Given the description of an element on the screen output the (x, y) to click on. 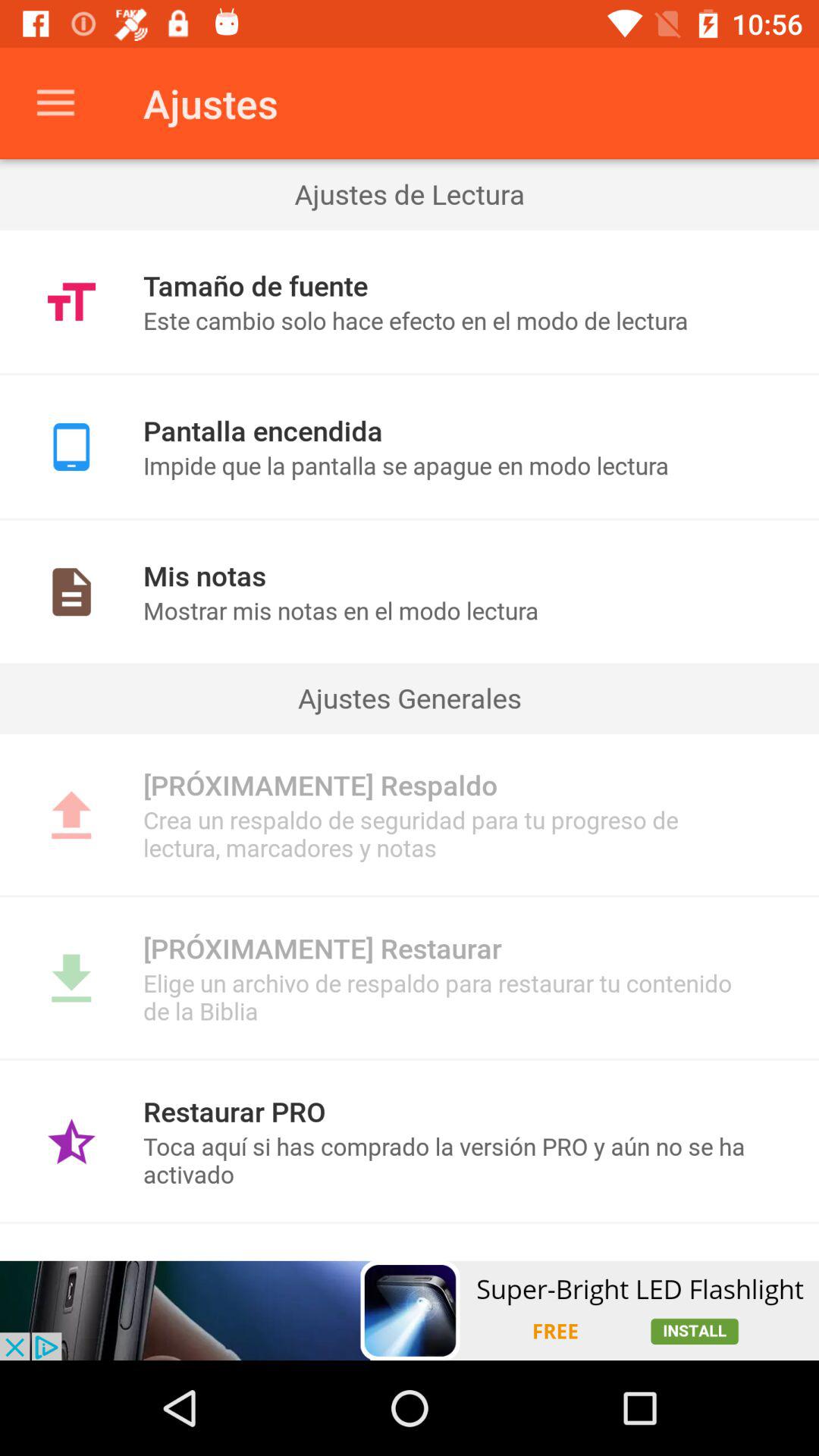
scroll to the ajustes generales item (409, 697)
